Given the description of an element on the screen output the (x, y) to click on. 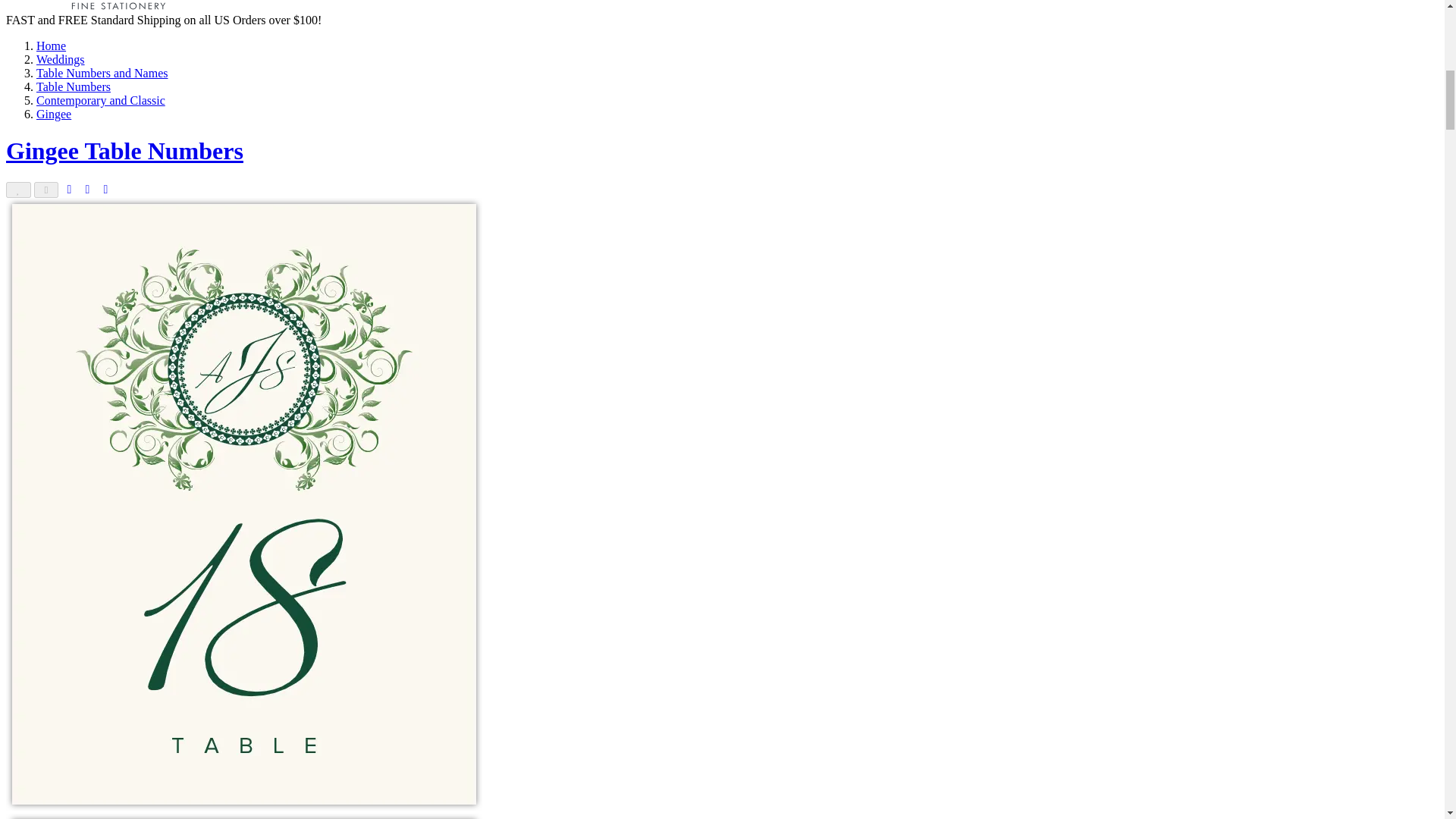
Documents and Designs (118, 6)
Home (50, 45)
Pin it! (69, 188)
Share via Email (46, 189)
Tweet (105, 188)
Share on Facebook (87, 188)
